Given the description of an element on the screen output the (x, y) to click on. 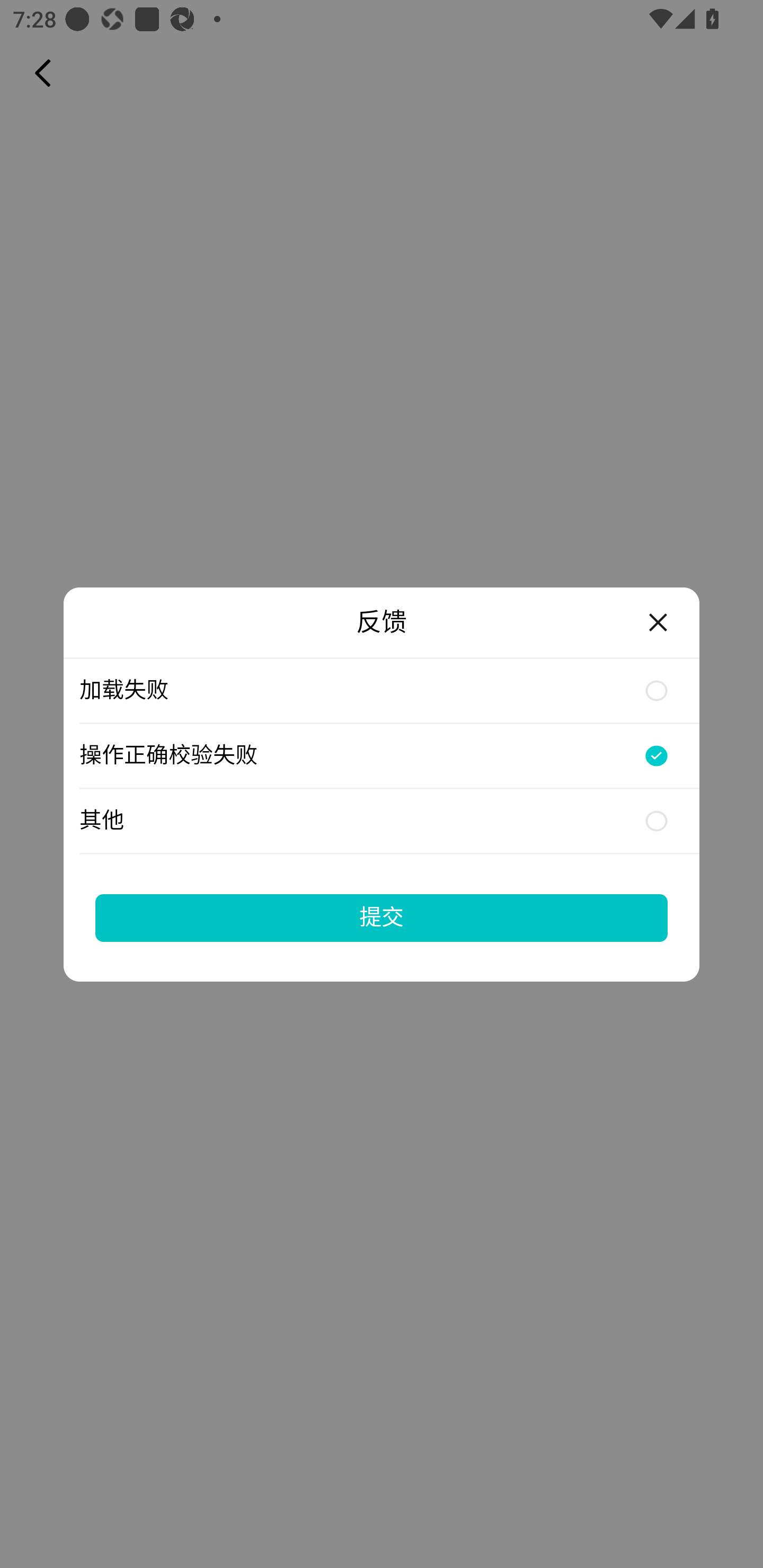
提交 (381, 917)
